Given the description of an element on the screen output the (x, y) to click on. 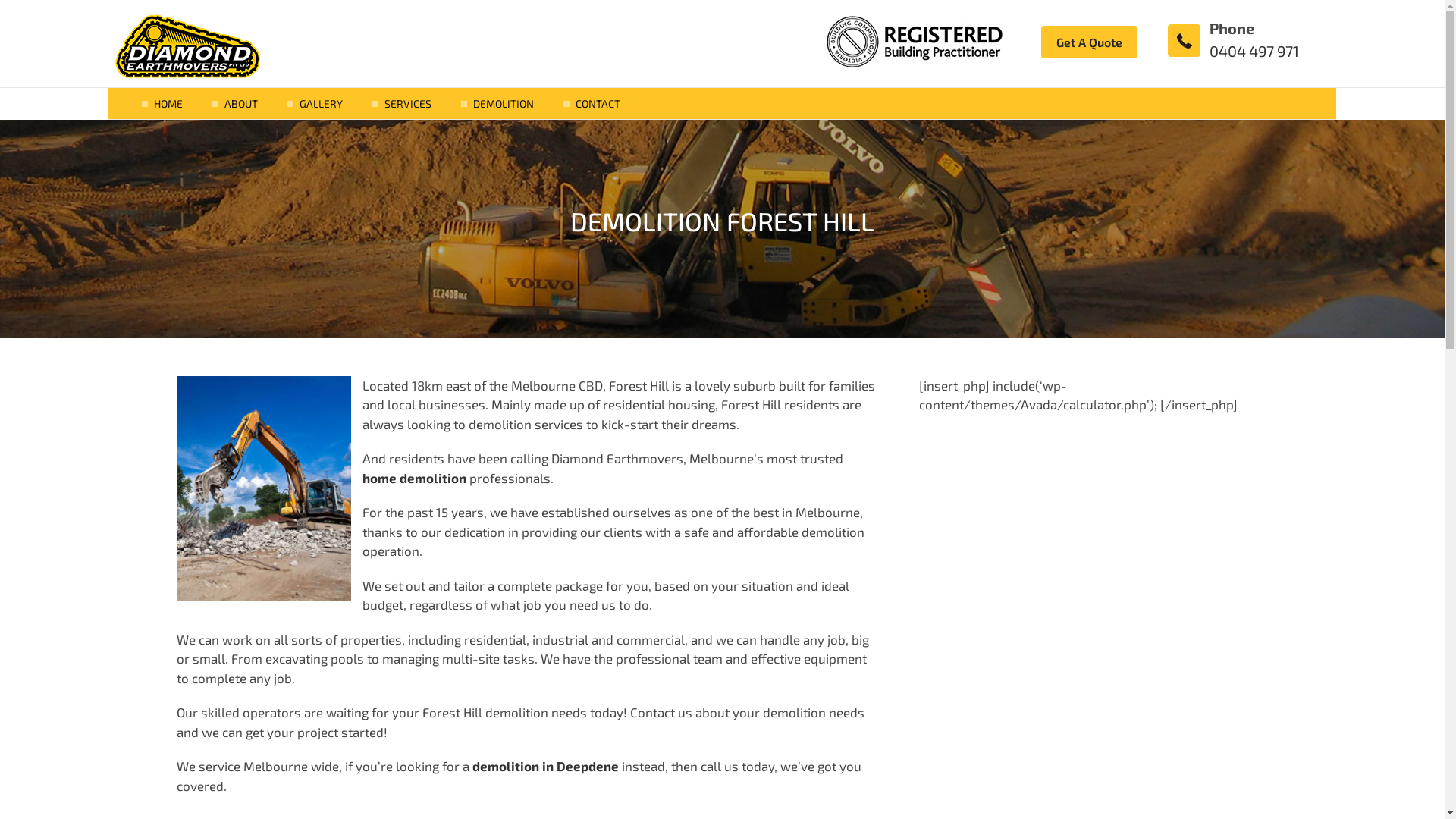
Get A Quote Element type: text (1089, 41)
GALLERY Element type: text (320, 103)
home demolition Element type: text (415, 477)
SERVICES Element type: text (407, 103)
0404 497 971 Element type: text (1254, 50)
demolition in Deepdene Element type: text (544, 765)
DEMOLITION Element type: text (503, 103)
CONTACT Element type: text (597, 103)
ABOUT Element type: text (240, 103)
HOME Element type: text (167, 103)
